Given the description of an element on the screen output the (x, y) to click on. 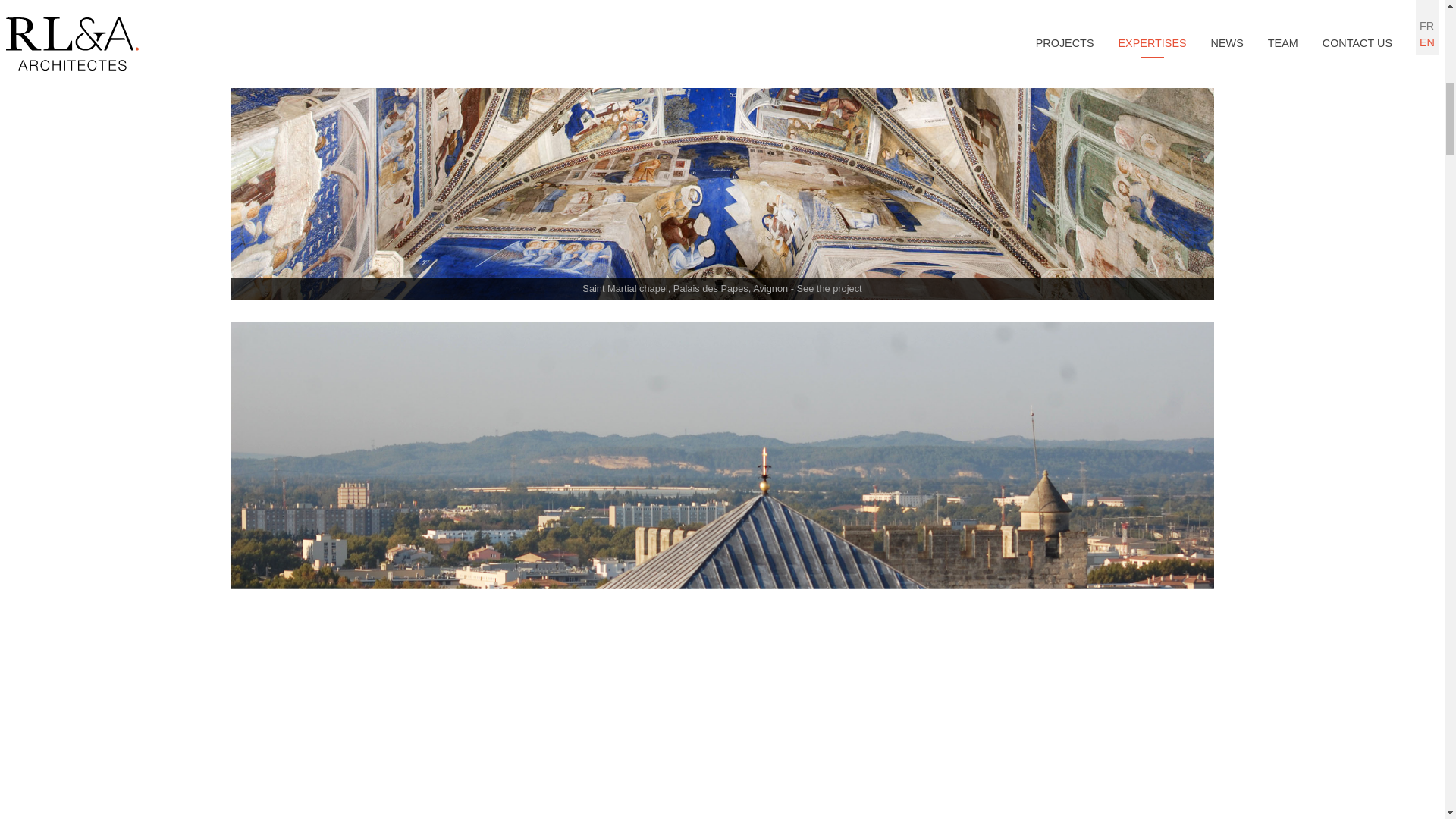
See the project (828, 288)
